Given the description of an element on the screen output the (x, y) to click on. 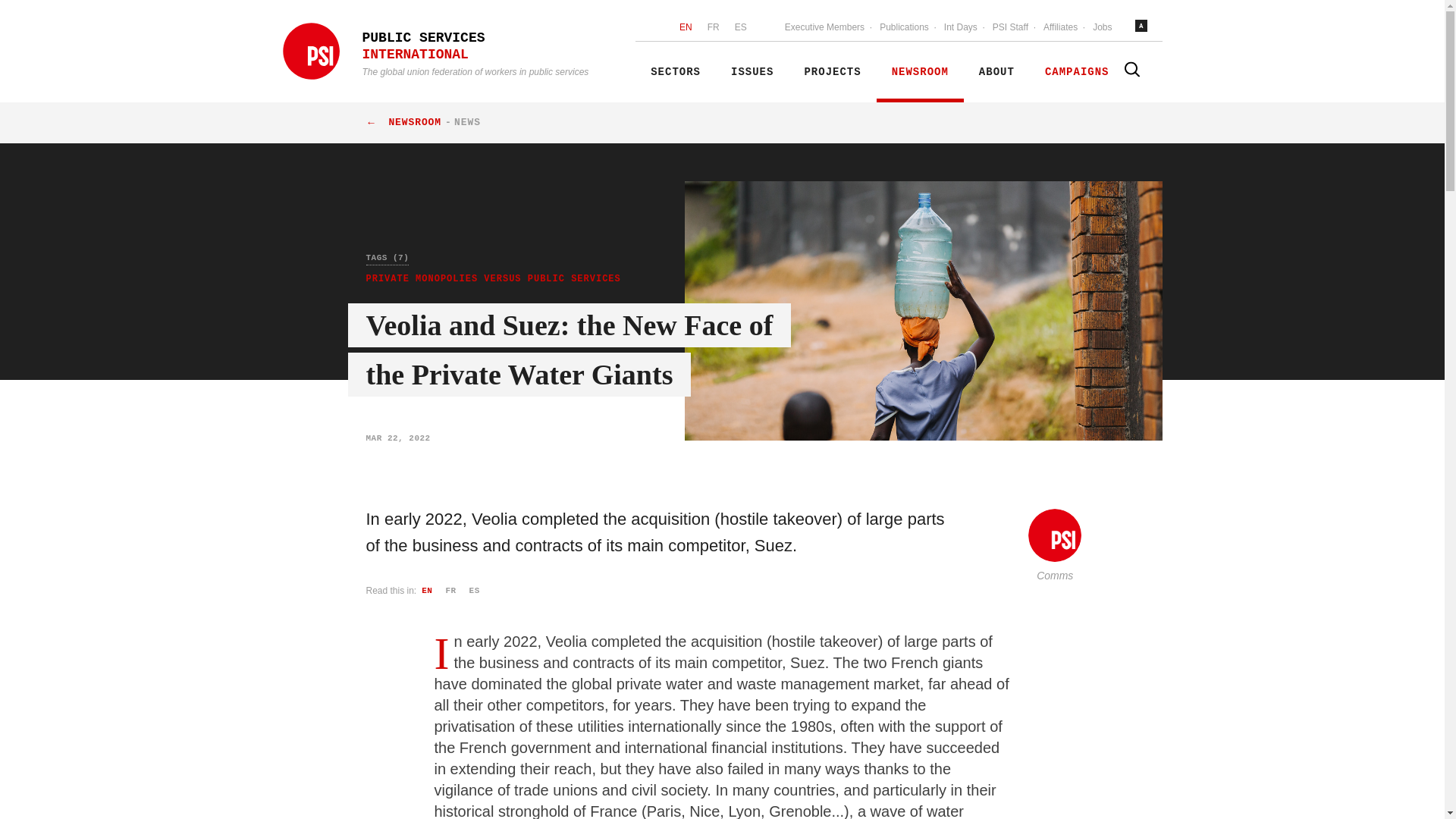
Jobs (1101, 27)
PSI Staff (1010, 27)
ES (740, 27)
ISSUES (752, 71)
Int Days (960, 27)
FR (713, 27)
Affiliates (1059, 27)
SECTORS (675, 71)
Executive Members (824, 27)
